Given the description of an element on the screen output the (x, y) to click on. 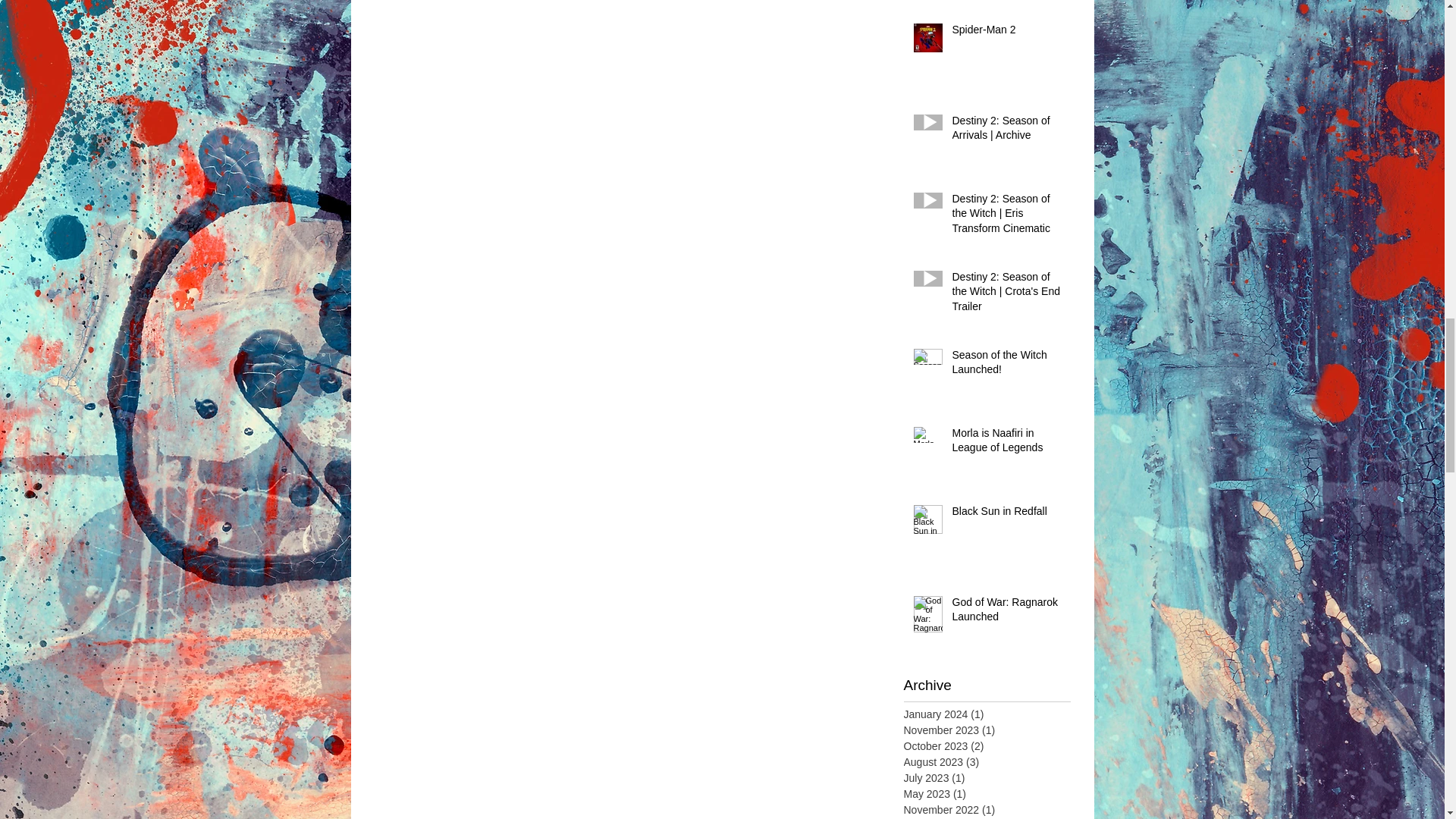
Spider-Man 2 (1006, 33)
Season of the Witch Launched! (1006, 366)
Black Sun in Redfall (1006, 514)
Morla is Naafiri in League of Legends (1006, 443)
God of War: Ragnarok Launched (1006, 612)
